Given the description of an element on the screen output the (x, y) to click on. 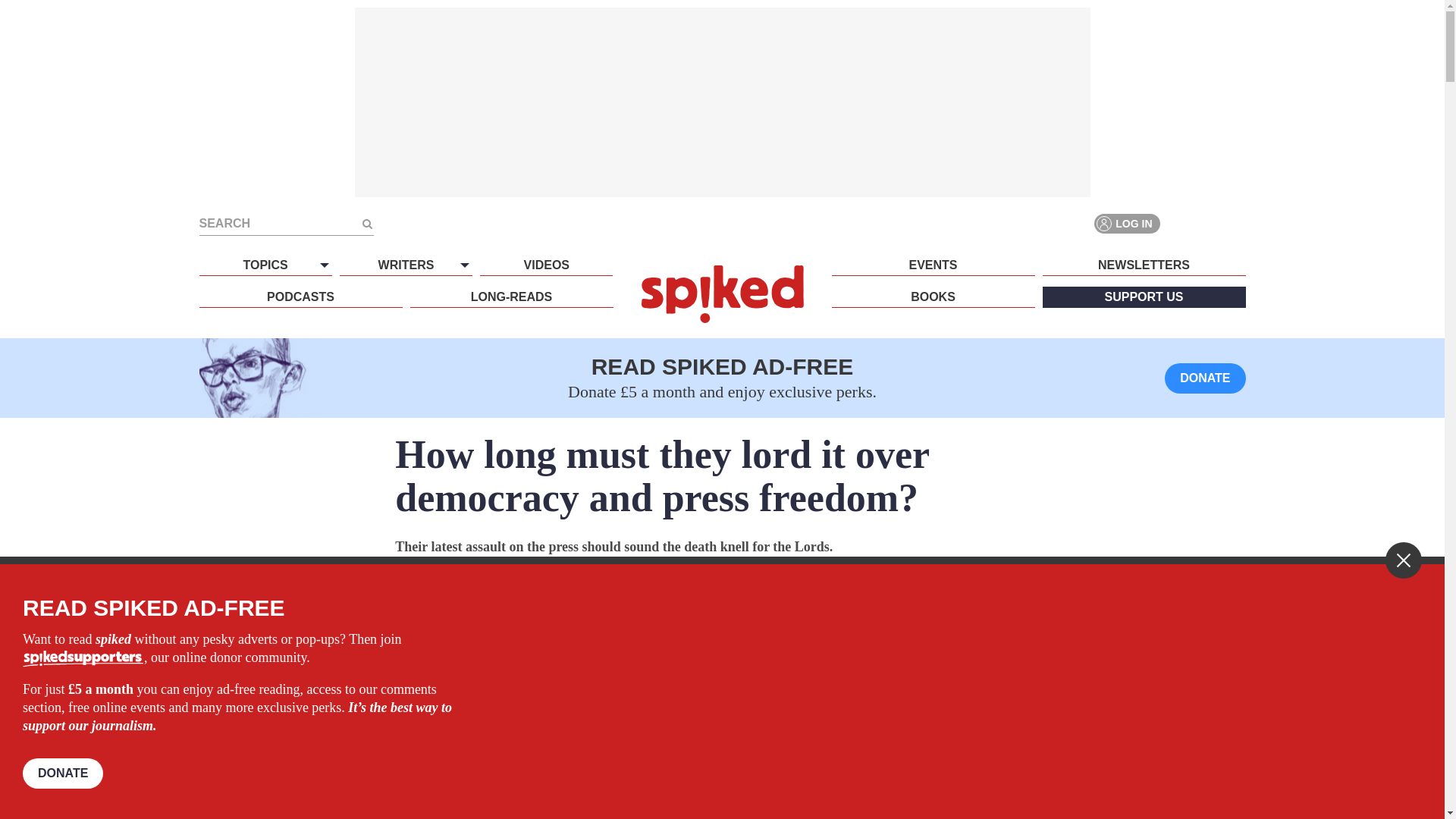
PODCASTS (299, 296)
EVENTS (932, 265)
SUPPORT US (1143, 296)
Facebook (1180, 223)
spiked - humanity is underrated (722, 293)
YouTube (1234, 223)
Twitter (1207, 223)
LOG IN (1126, 223)
TOPICS (264, 265)
LONG-READS (510, 296)
